Given the description of an element on the screen output the (x, y) to click on. 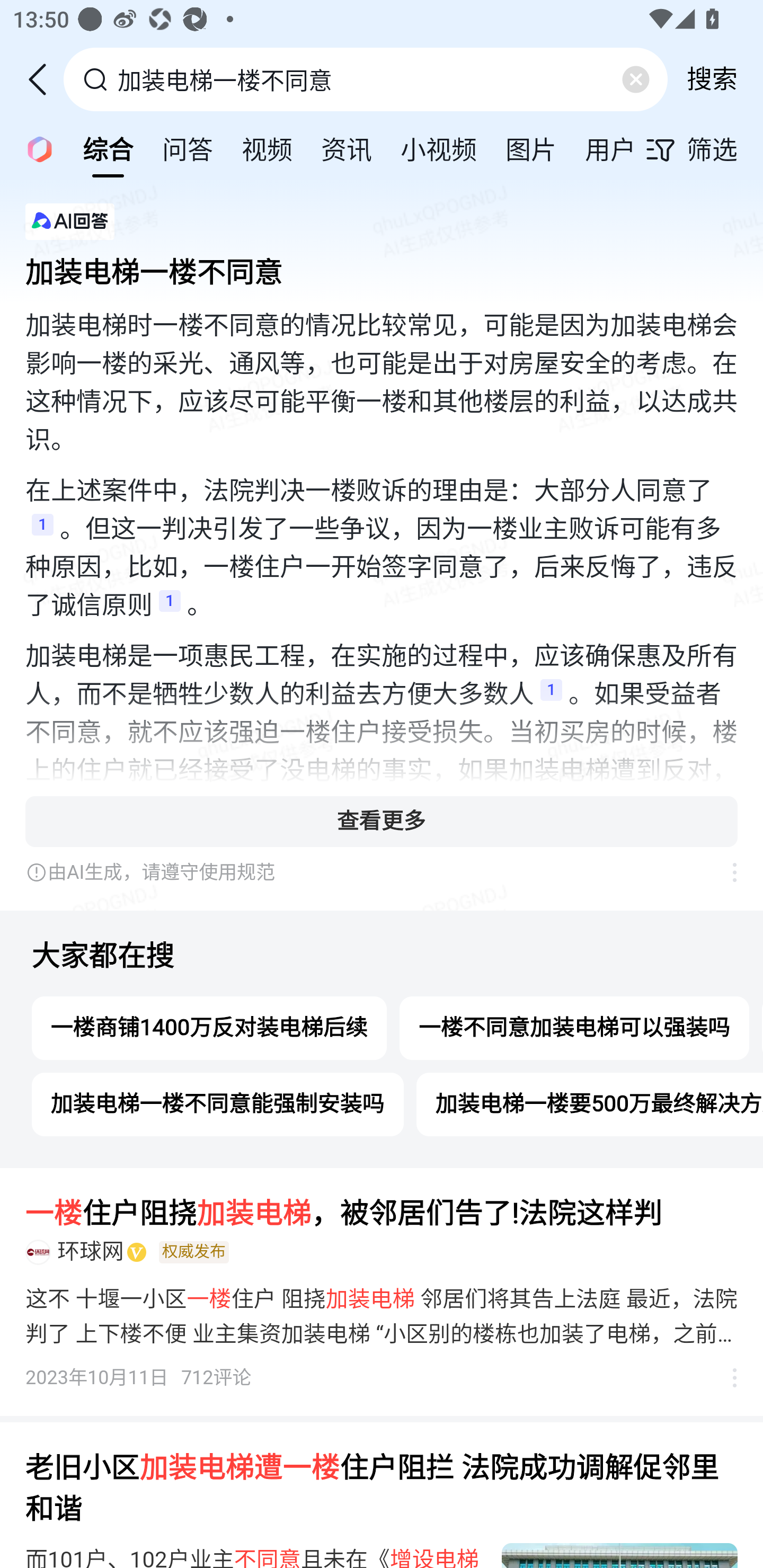
搜索框，加装电梯一楼不同意 (366, 79)
搜索 (711, 79)
返回 (44, 79)
清除 (635, 79)
问答 (187, 148)
视频 (266, 148)
资讯 (346, 148)
小视频 (438, 148)
图片 (530, 148)
用户 (610, 148)
筛选 (703, 149)
AI问答 (34, 148)
加装电梯一楼不同意 (381, 266)
1 (42, 529)
1 (169, 605)
1 (551, 694)
查看更多 (381, 821)
由AI生成，请遵守使用规范 (368, 872)
举报反馈 (724, 872)
一楼住户阻挠加装电梯，被邻居们告了!法院这样判 一楼 住户阻挠 加装电梯 ，被邻居们告了!法院这样判 (381, 1214)
2023年10月11日 712评论 (138, 1377)
举报反馈 (724, 1377)
